Given the description of an element on the screen output the (x, y) to click on. 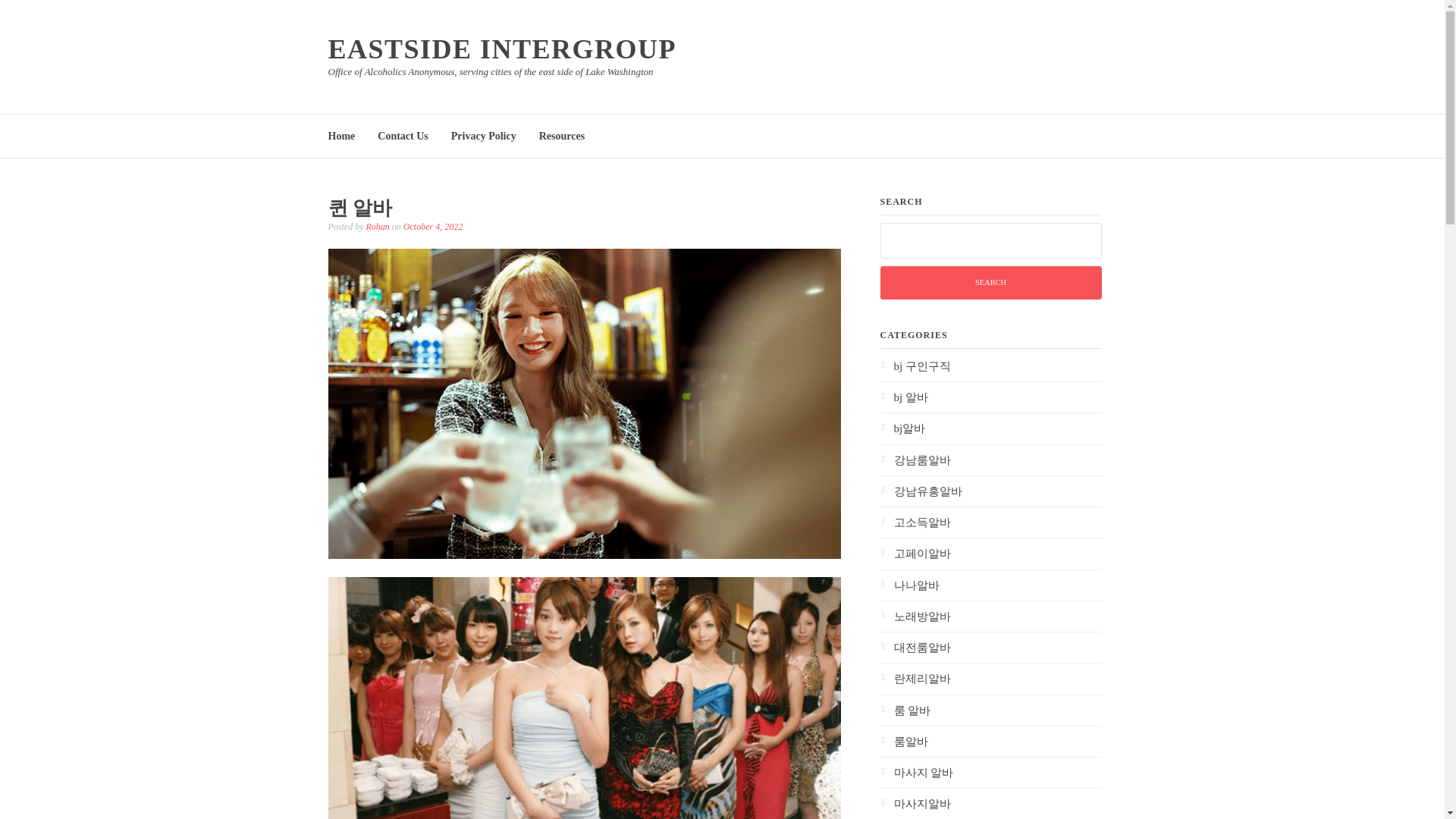
Rohan (376, 226)
Home (341, 135)
Search (989, 282)
Search (989, 282)
EASTSIDE INTERGROUP (502, 49)
Privacy Policy (483, 135)
Resources (561, 135)
October 4, 2022 (433, 226)
Contact Us (402, 135)
